Given the description of an element on the screen output the (x, y) to click on. 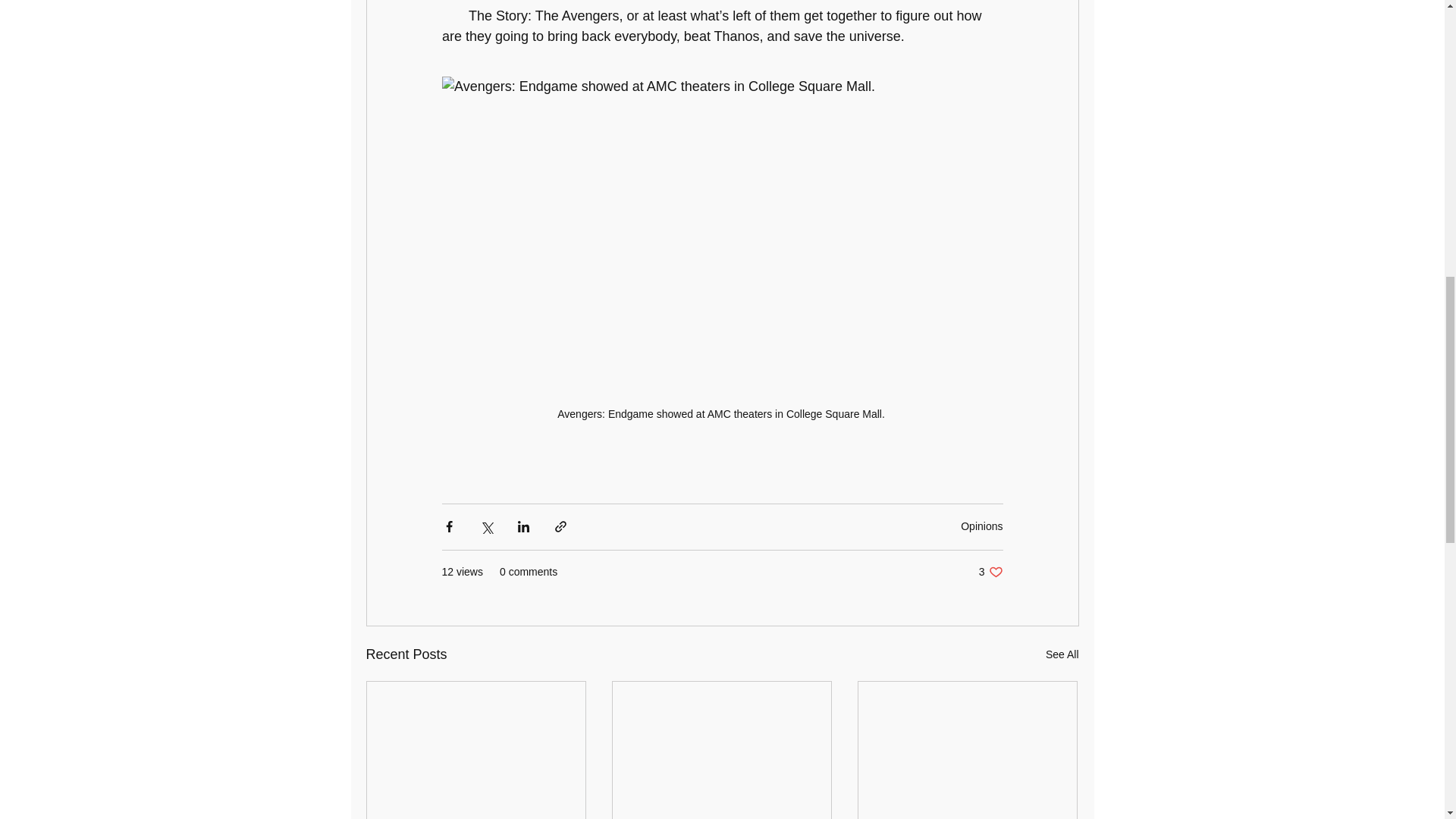
Opinions (981, 526)
See All (1061, 654)
